Given the description of an element on the screen output the (x, y) to click on. 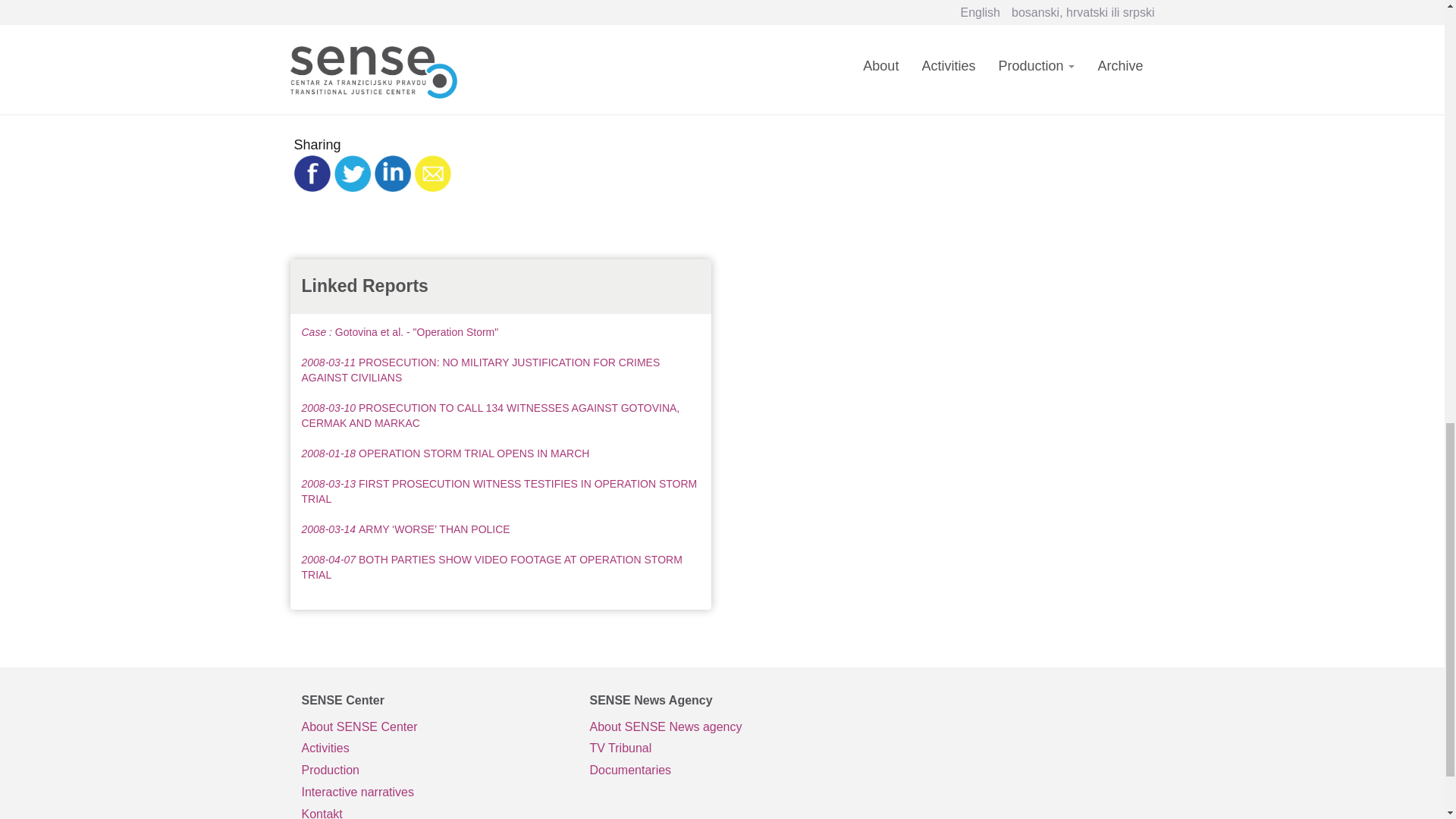
TV Tribunal (721, 748)
Interactive narratives (434, 792)
Case : Gotovina et al. - "Operation Storm" (400, 331)
Activities (434, 748)
About SENSE News agency (721, 727)
2008-01-18 OPERATION STORM TRIAL OPENS IN MARCH (445, 453)
Production (434, 771)
In Bosnian, Croatian or Serbian langauge (721, 748)
Documentaries (721, 771)
About SENSE Center (434, 727)
